Given the description of an element on the screen output the (x, y) to click on. 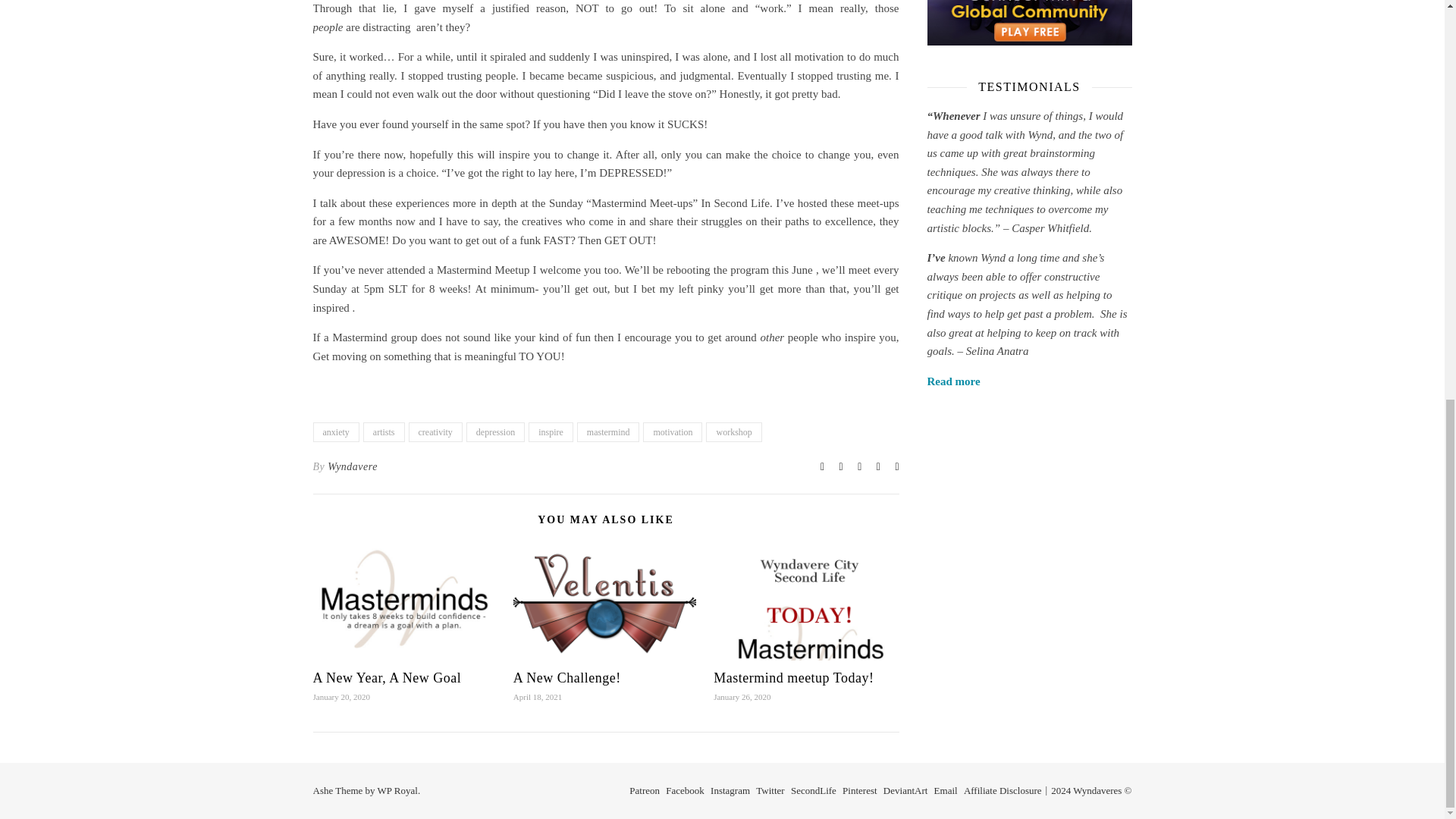
Pinterest (860, 790)
Deviant Art (905, 790)
Second Life (812, 790)
Posts by Wyndavere (352, 466)
